Given the description of an element on the screen output the (x, y) to click on. 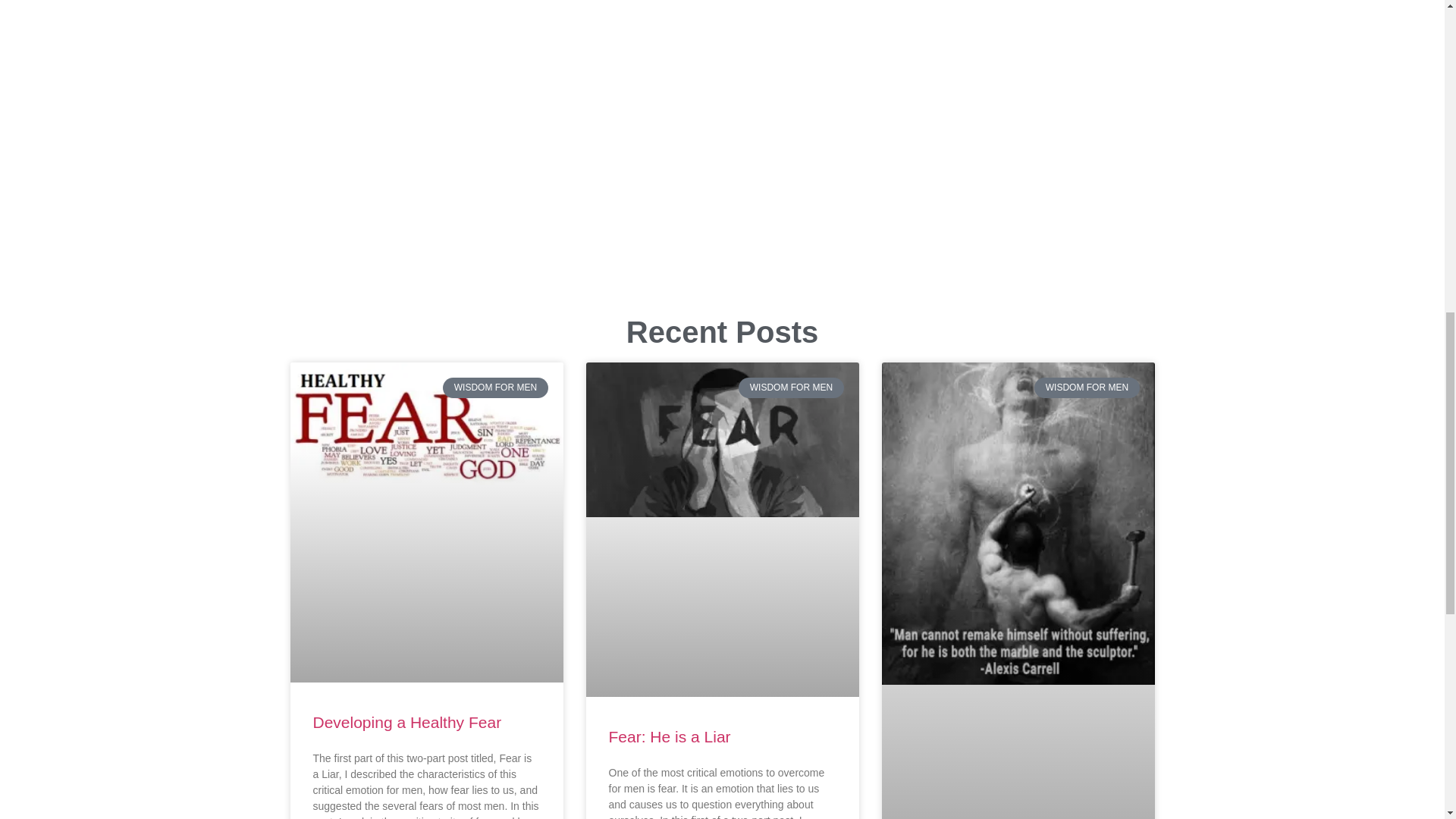
Developing a Healthy Fear (406, 722)
Fear: He is a Liar (669, 736)
